Given the description of an element on the screen output the (x, y) to click on. 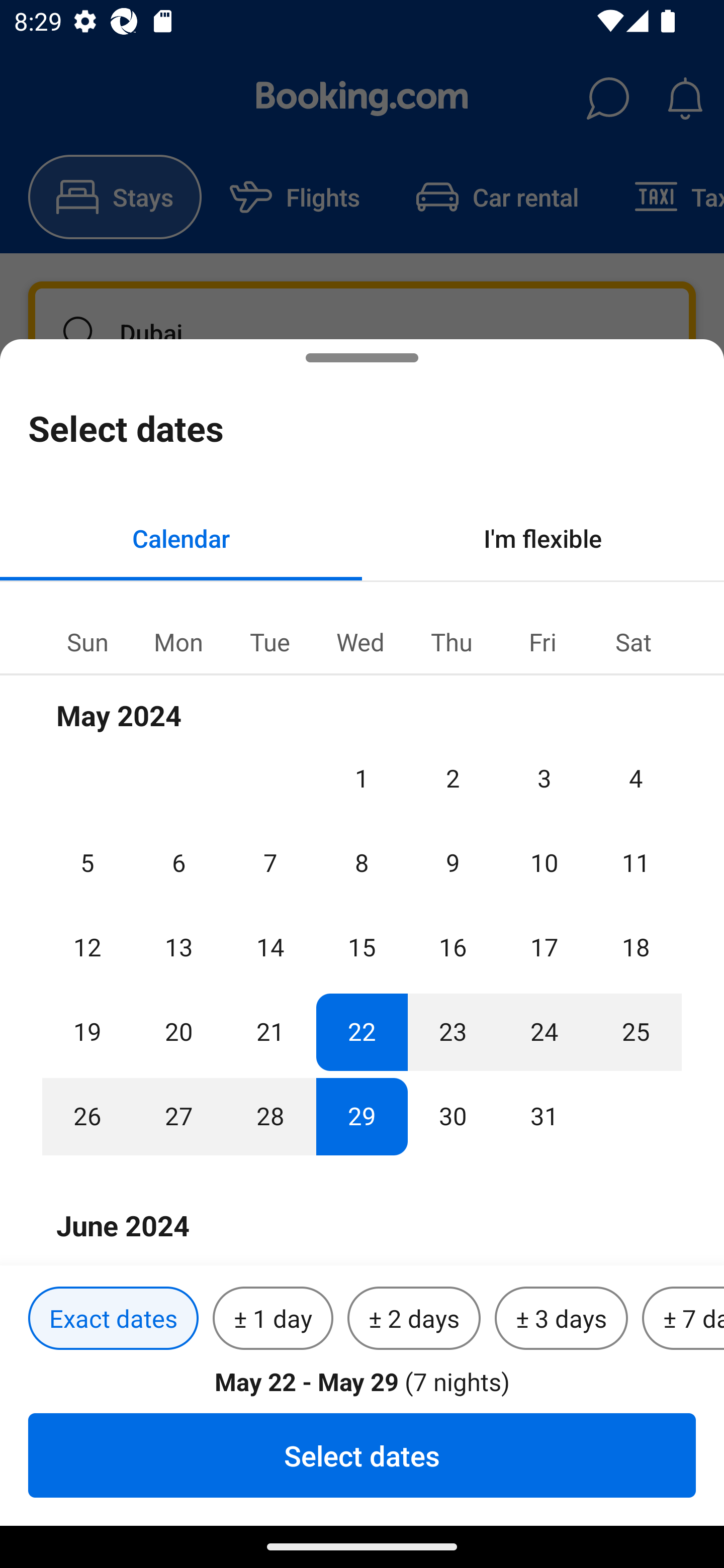
I'm flexible (543, 537)
Exact dates (113, 1318)
± 1 day (272, 1318)
± 2 days (413, 1318)
± 3 days (560, 1318)
± 7 days (683, 1318)
Select dates (361, 1454)
